Given the description of an element on the screen output the (x, y) to click on. 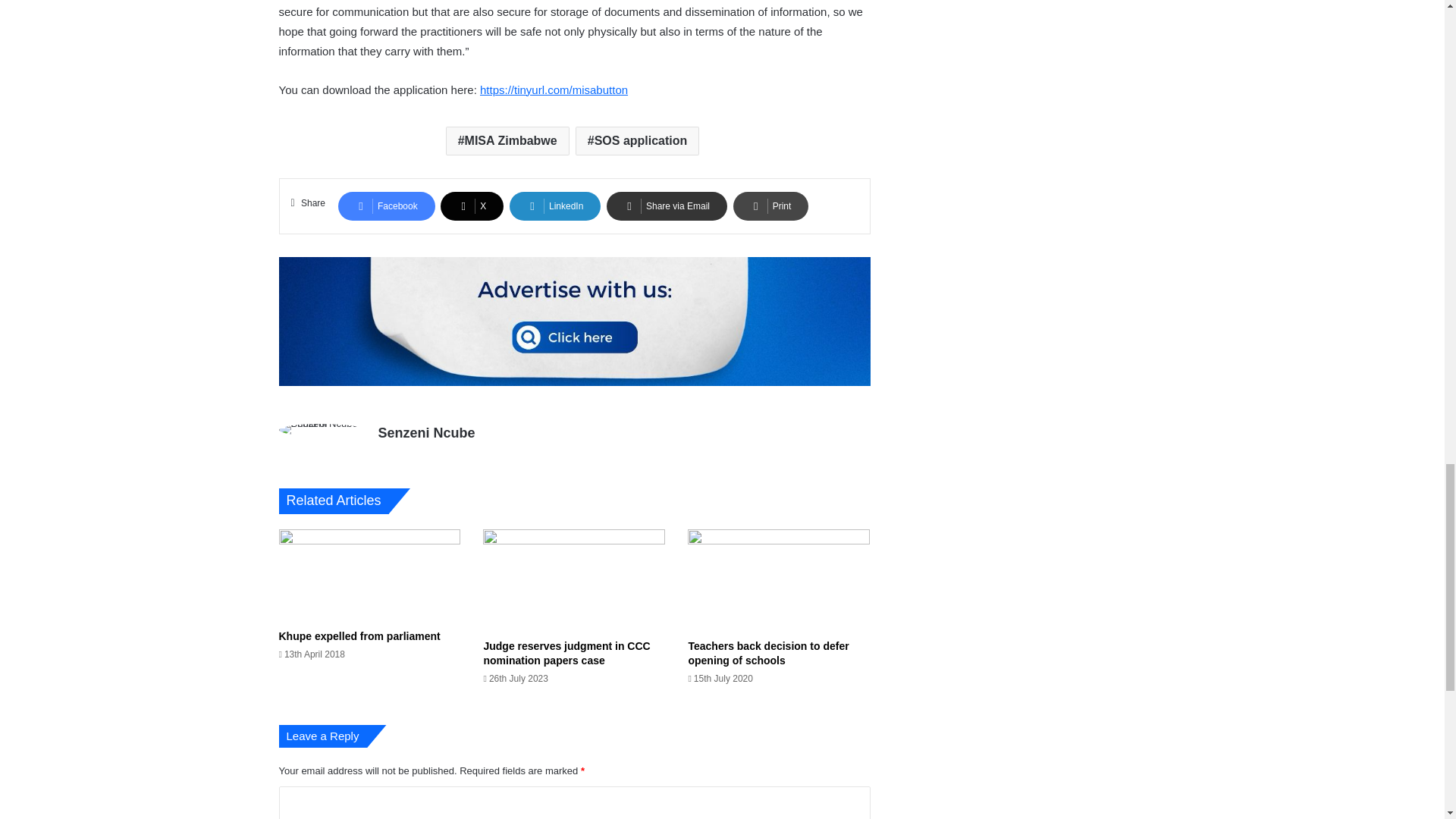
X (472, 205)
LinkedIn (554, 205)
Facebook (386, 205)
